Given the description of an element on the screen output the (x, y) to click on. 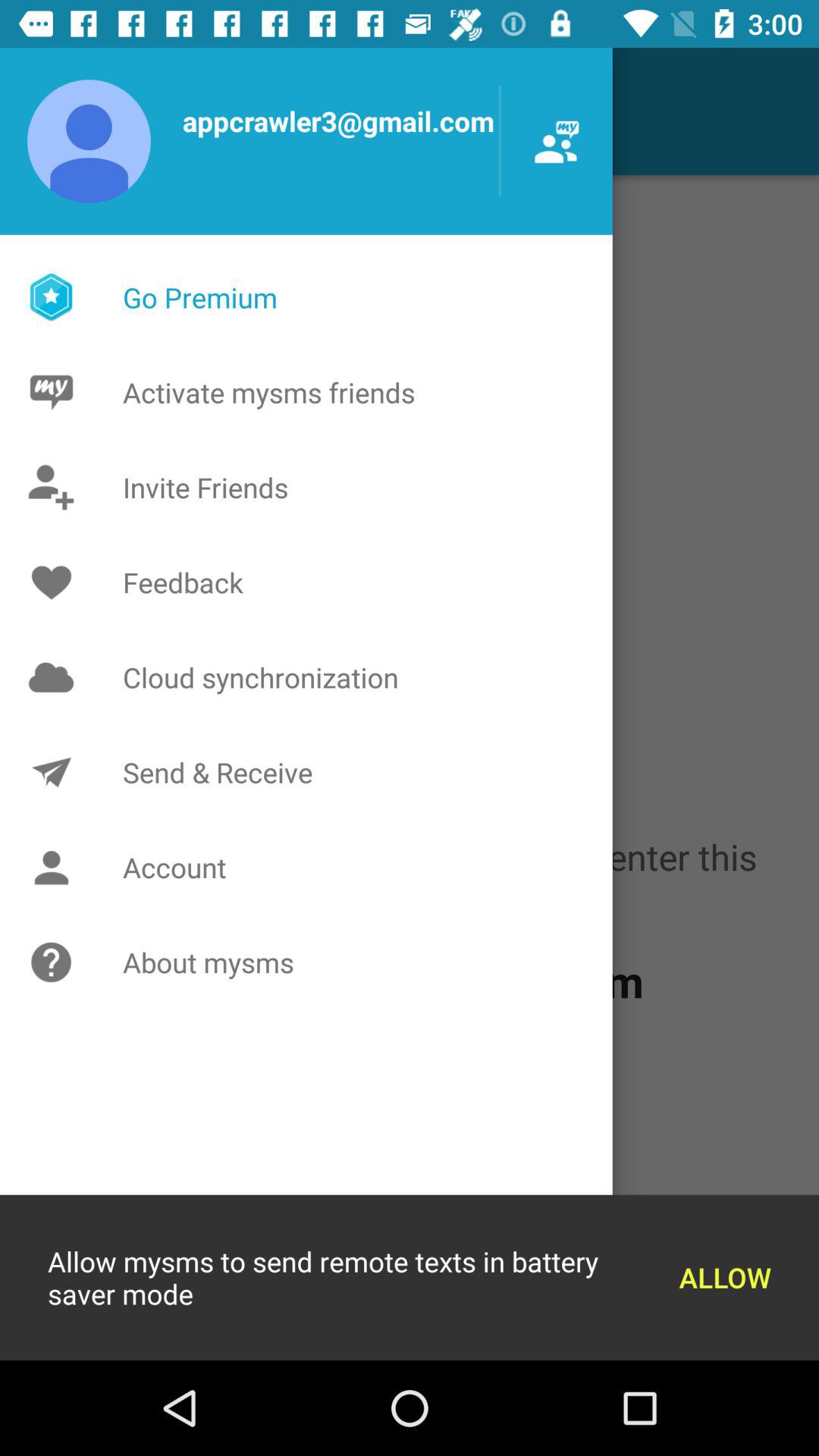
click on the user icon (93, 141)
click on icon left to about mysms (55, 963)
click on the bottom of the second icon (55, 867)
